Given the description of an element on the screen output the (x, y) to click on. 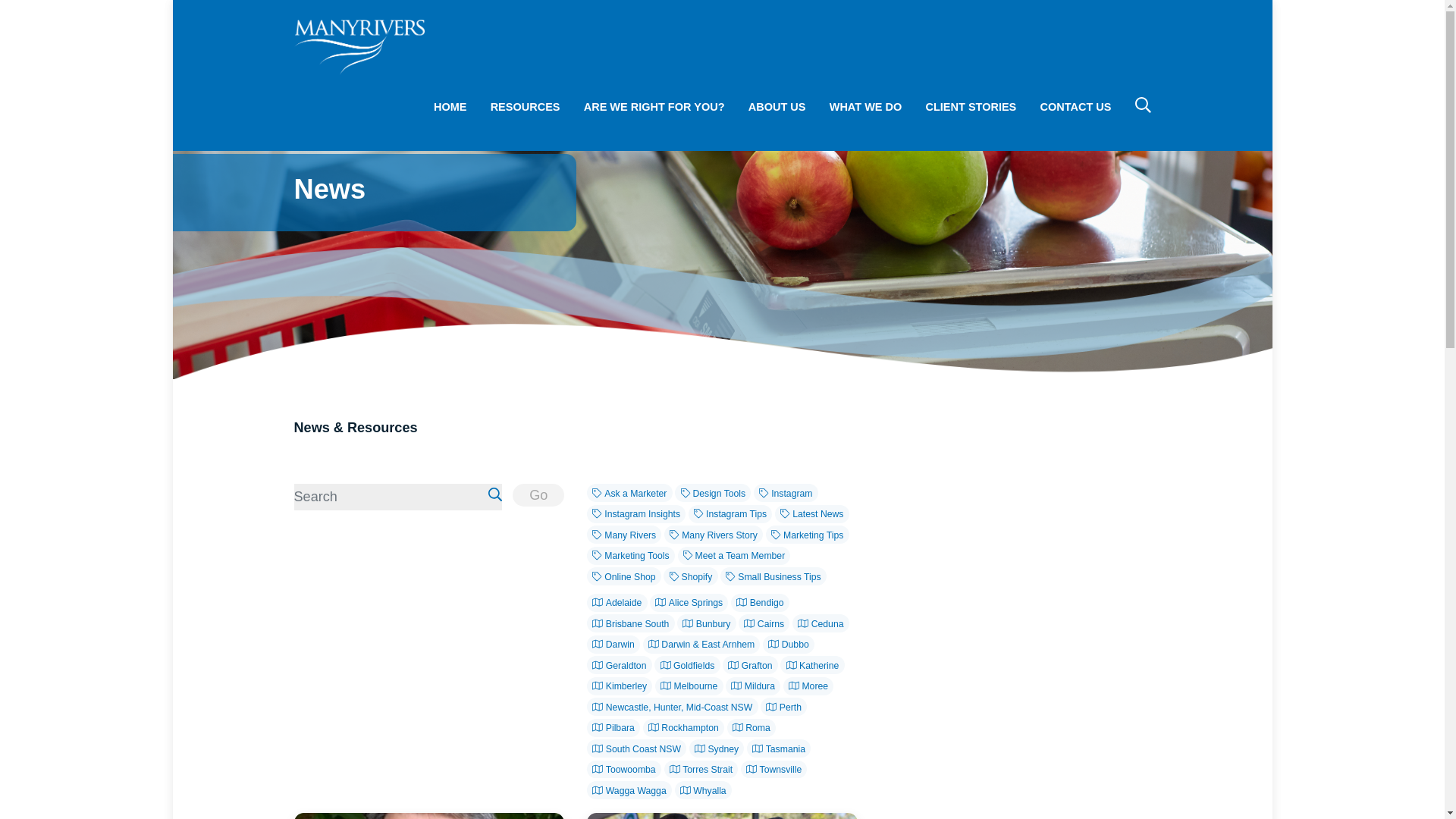
Meet a Team Member (734, 556)
RESOURCES (525, 106)
Adelaide (616, 602)
Brisbane South (630, 623)
Design Tools (713, 493)
Dubbo (787, 644)
Bendigo (759, 602)
Shopify (690, 576)
Many Rivers Story (712, 534)
Go (538, 495)
WHAT WE DO (865, 106)
Instagram (786, 493)
Many Rivers (623, 534)
Instagram Tips (730, 514)
Marketing Tools (630, 556)
